Given the description of an element on the screen output the (x, y) to click on. 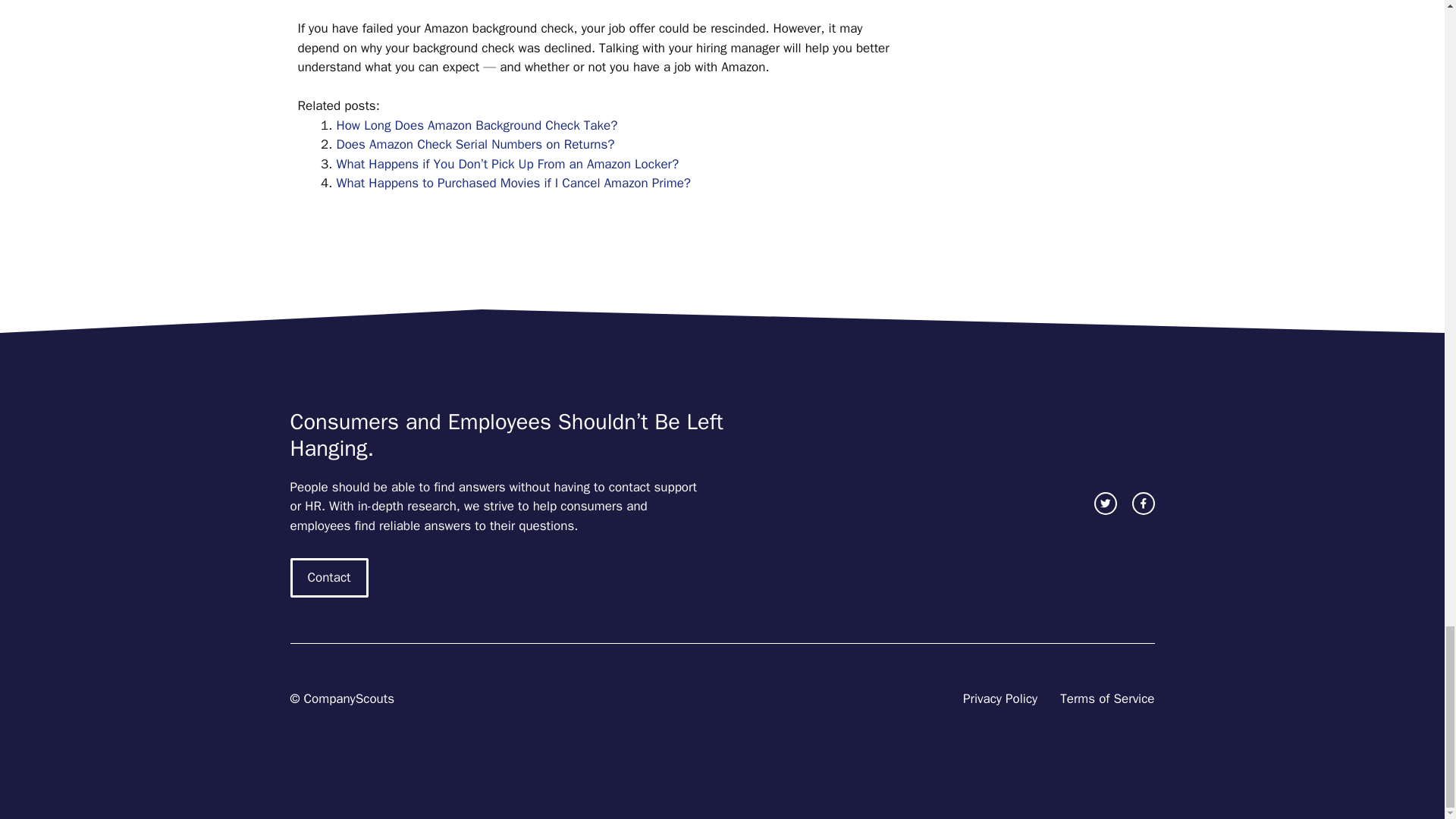
Does Amazon Check Serial Numbers on Returns? (475, 144)
What Happens to Purchased Movies if I Cancel Amazon Prime? (513, 182)
How Long Does Amazon Background Check Take? (476, 125)
Contact (328, 577)
How Long Does Amazon Background Check Take? (476, 125)
Does Amazon Check Serial Numbers on Returns? (475, 144)
What Happens to Purchased Movies if I Cancel Amazon Prime? (513, 182)
Privacy Policy (999, 699)
Terms of Service (1106, 699)
